Given the description of an element on the screen output the (x, y) to click on. 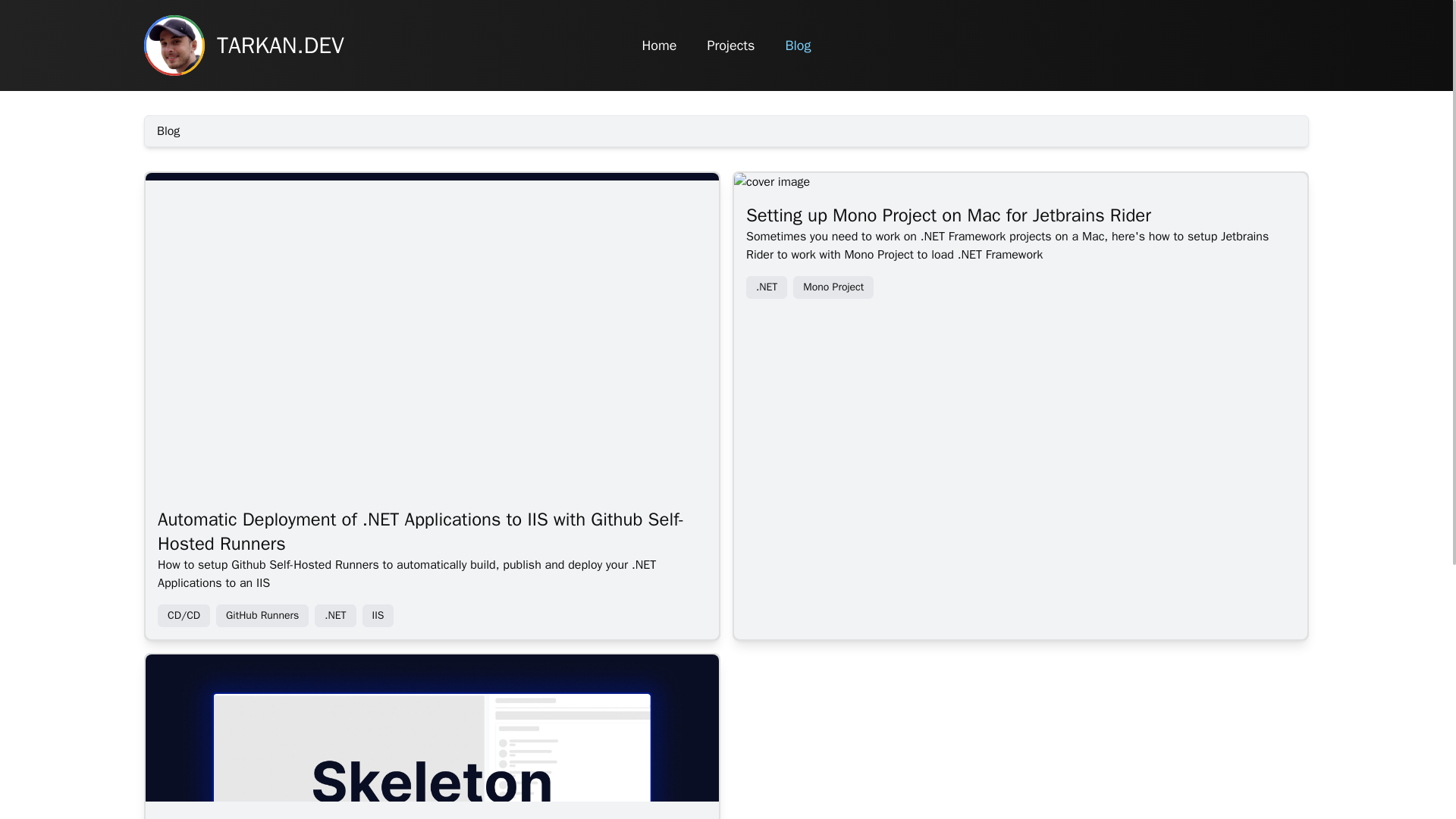
Projects (730, 45)
TARKAN.DEV (334, 45)
Home (659, 45)
Blog (797, 45)
